Given the description of an element on the screen output the (x, y) to click on. 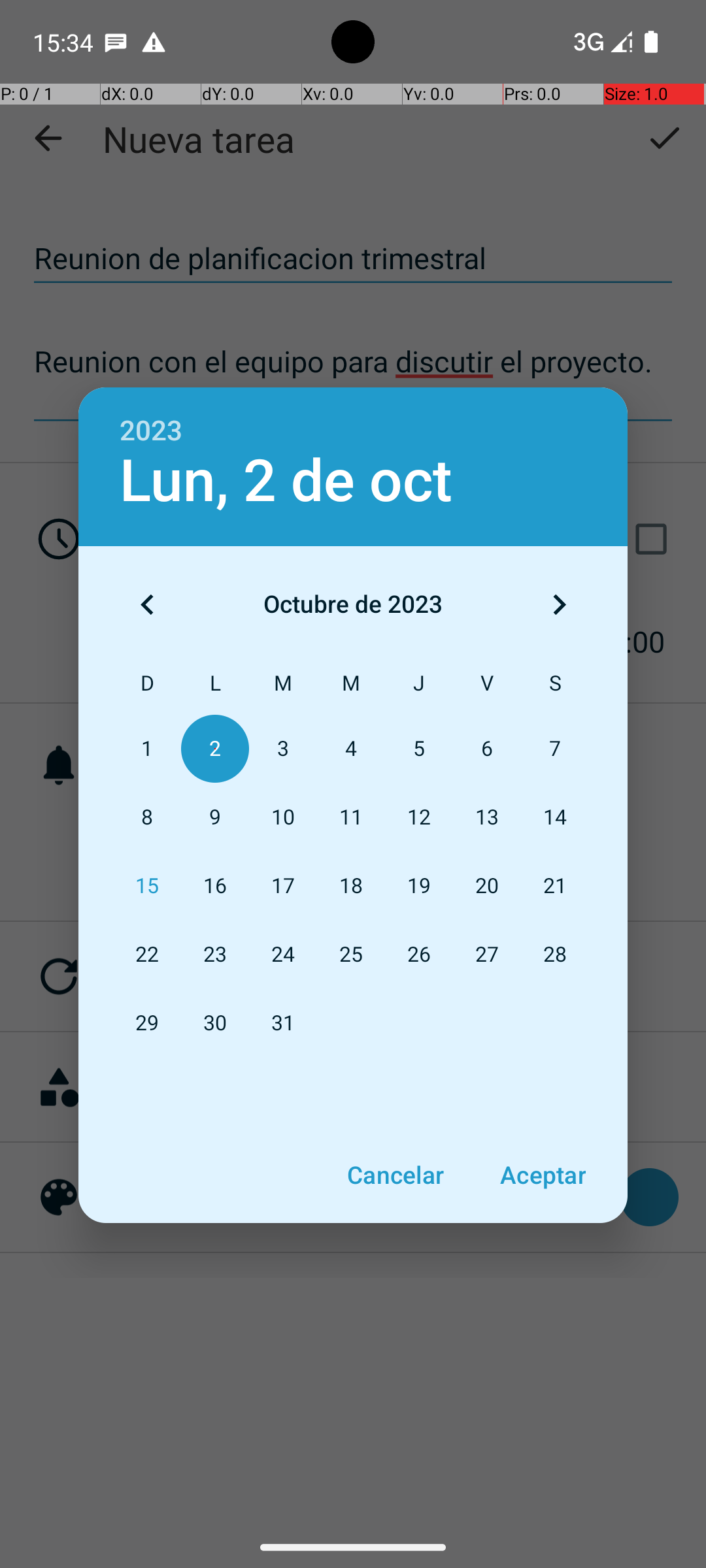
Lun, 2 de oct Element type: android.widget.TextView (285, 480)
Mes anterior Element type: android.widget.ImageButton (146, 604)
Mes siguiente Element type: android.widget.ImageButton (558, 604)
Cancelar Element type: android.widget.Button (394, 1174)
Aceptar Element type: android.widget.Button (542, 1174)
